Given the description of an element on the screen output the (x, y) to click on. 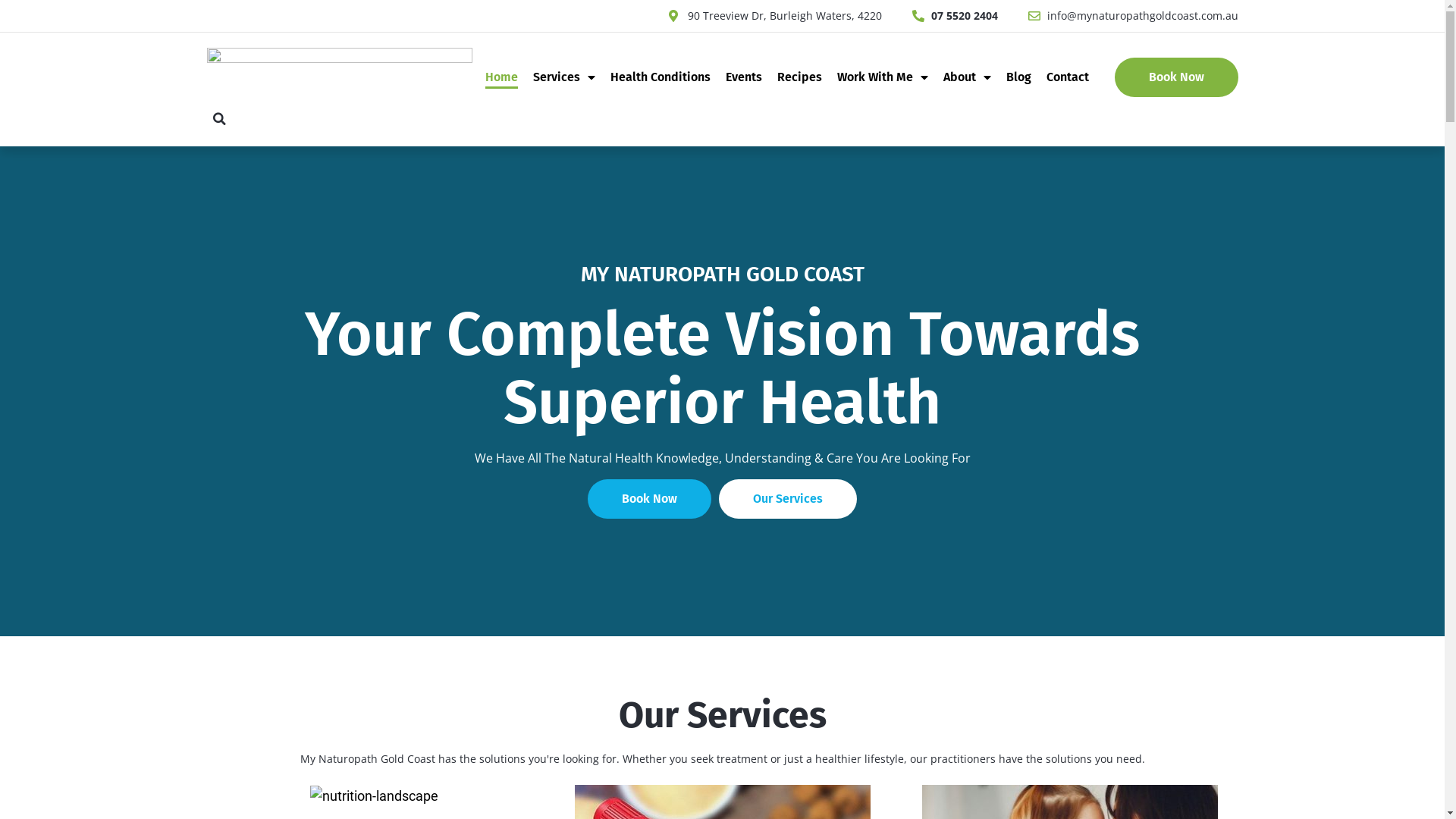
Book Now Element type: text (649, 498)
Our Services Element type: text (787, 498)
Recipes Element type: text (799, 76)
About Element type: text (967, 76)
Health Conditions Element type: text (660, 76)
07 5520 2404 Element type: text (954, 15)
info@mynaturopathgoldcoast.com.au Element type: text (1133, 15)
Work With Me Element type: text (882, 76)
Book Now Element type: text (1176, 77)
Events Element type: text (743, 76)
Contact Element type: text (1067, 76)
nutrition-landscape Element type: hover (374, 796)
Home Element type: text (501, 76)
Blog Element type: text (1018, 76)
Services Element type: text (564, 76)
